Given the description of an element on the screen output the (x, y) to click on. 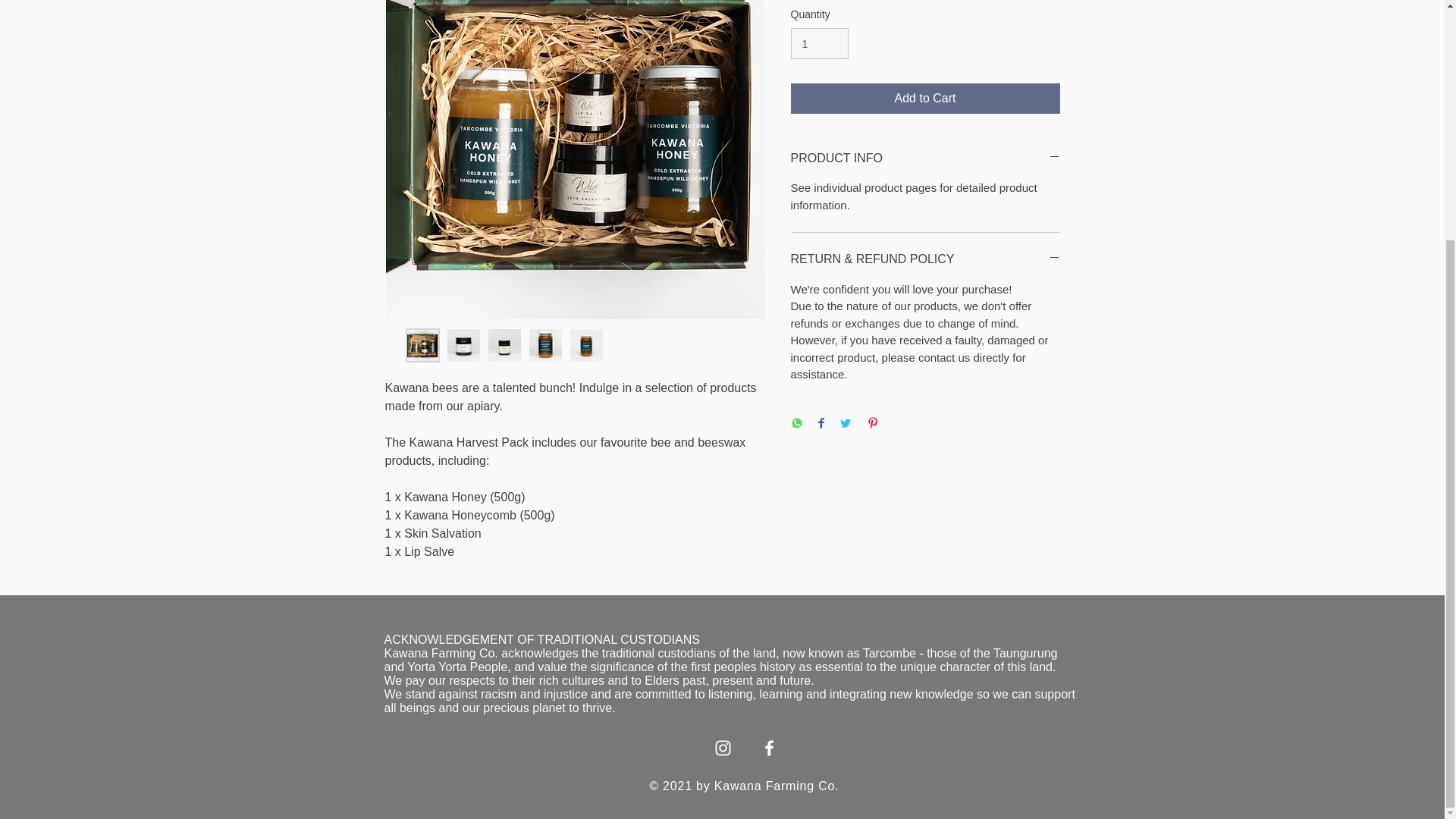
1 (818, 42)
Add to Cart (924, 98)
PRODUCT INFO (924, 158)
